Given the description of an element on the screen output the (x, y) to click on. 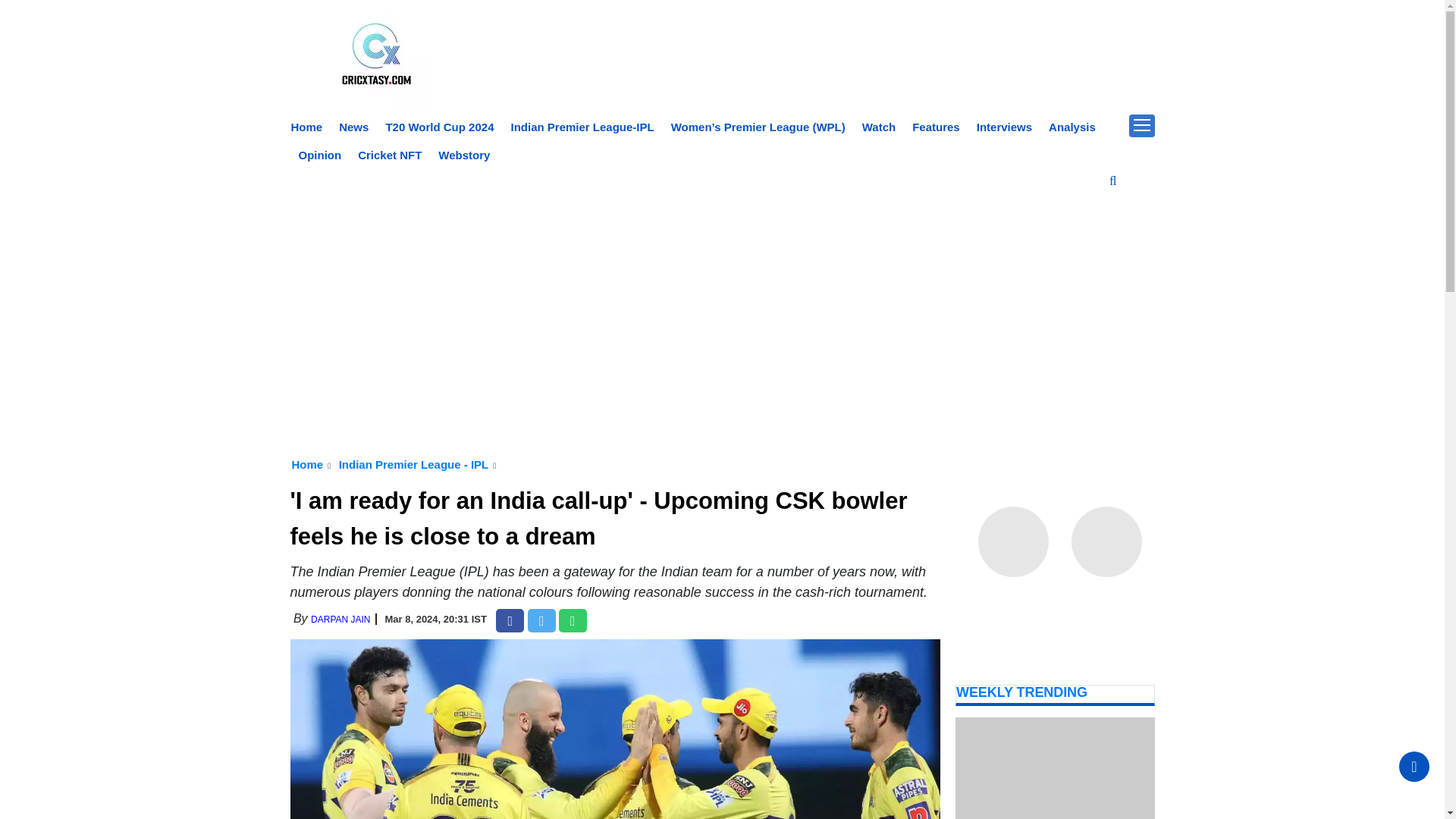
Watch (878, 126)
3rd party ad content (721, 216)
Features (935, 126)
DARPAN JAIN (340, 619)
Opinion (320, 154)
Indian Premier League-IPL (582, 126)
Cricket NFT (390, 154)
T20 World Cup 2024 (439, 126)
Home (307, 463)
Webstory (463, 154)
